Given the description of an element on the screen output the (x, y) to click on. 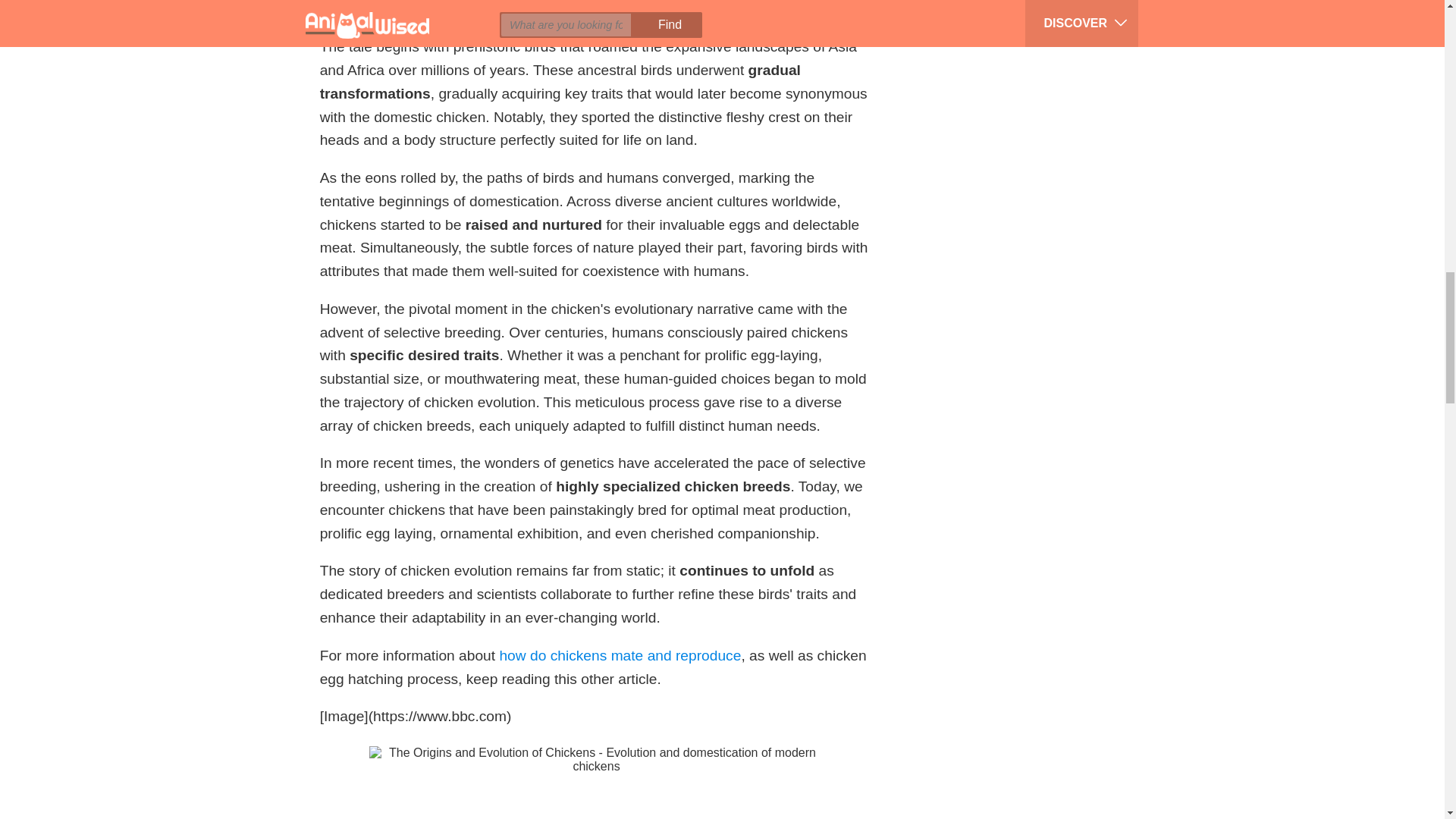
how do chickens mate and reproduce (620, 655)
